Given the description of an element on the screen output the (x, y) to click on. 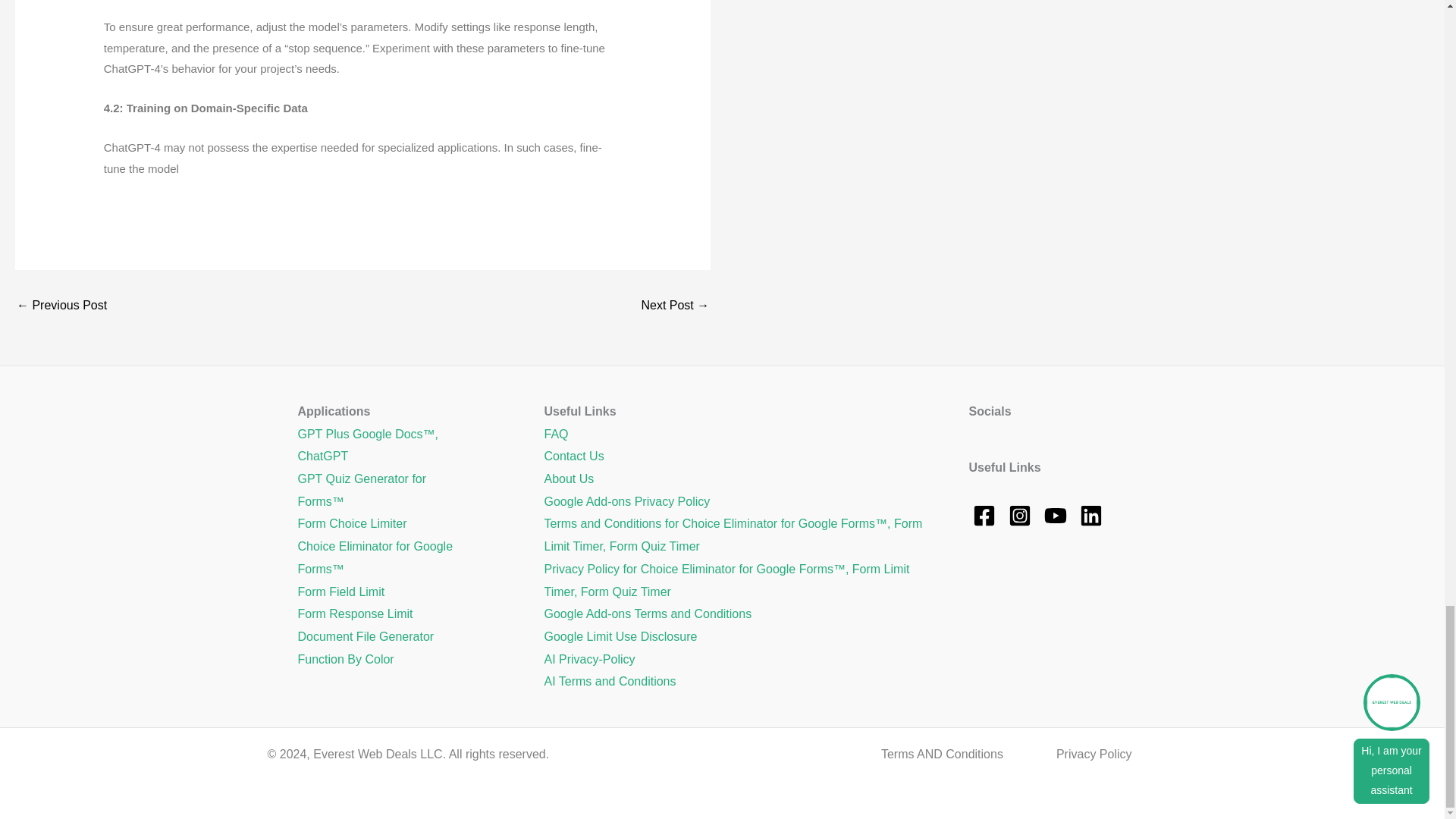
How do I limit responses to Google Forms? (61, 305)
How do you add GPT to Google Docs? (674, 305)
